Given the description of an element on the screen output the (x, y) to click on. 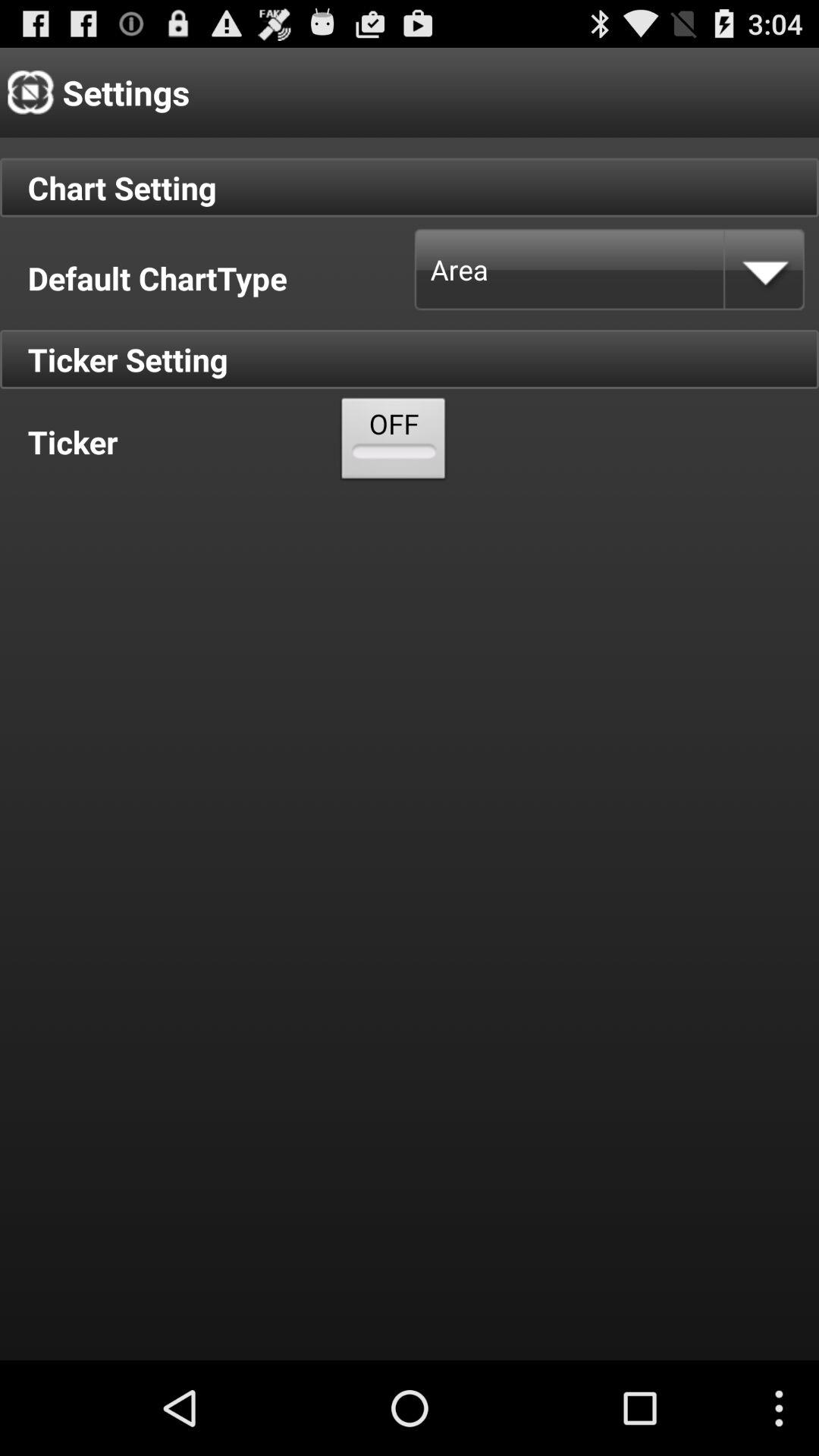
jump until the off (393, 441)
